Given the description of an element on the screen output the (x, y) to click on. 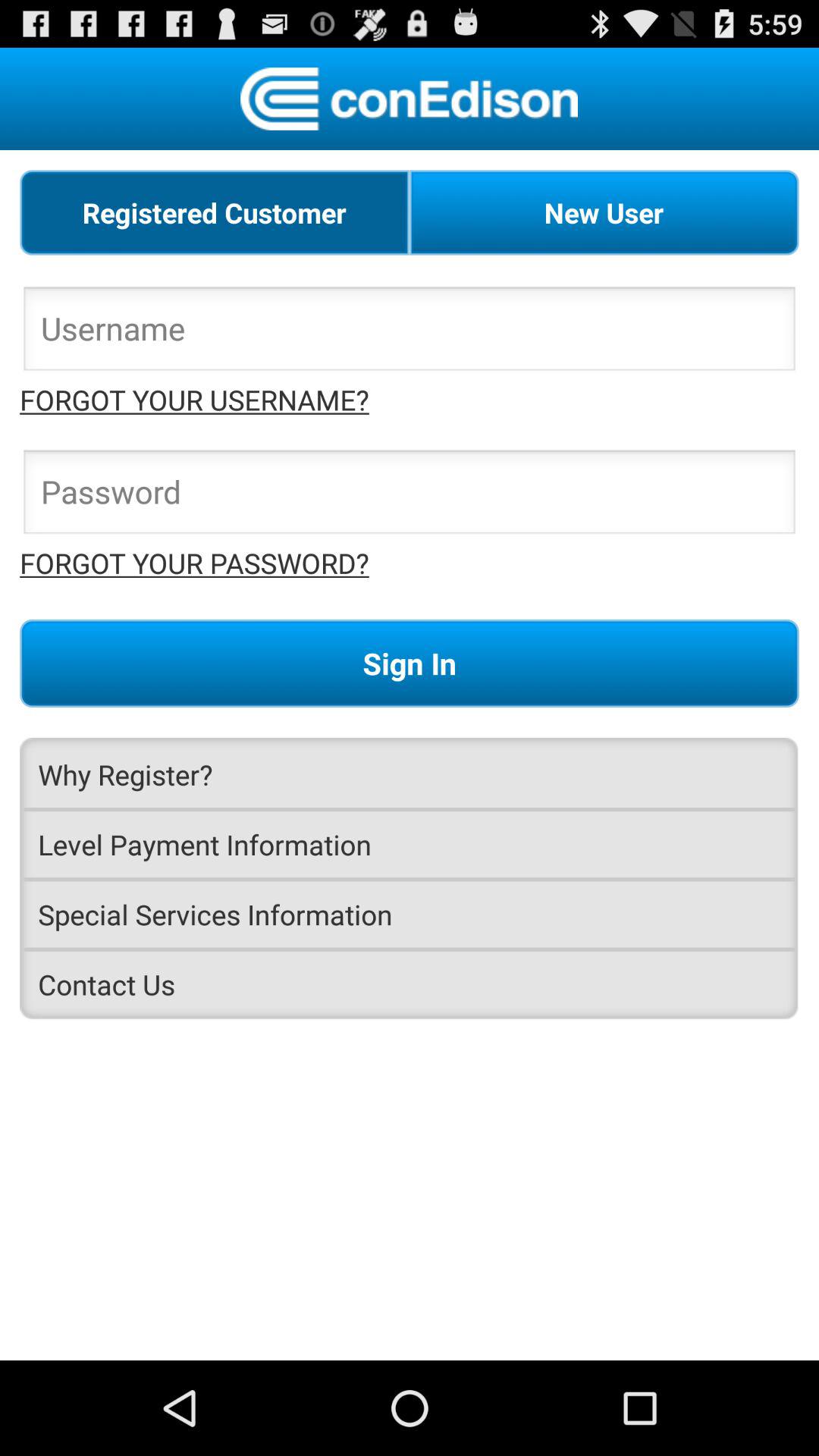
open the contact us item (409, 984)
